Given the description of an element on the screen output the (x, y) to click on. 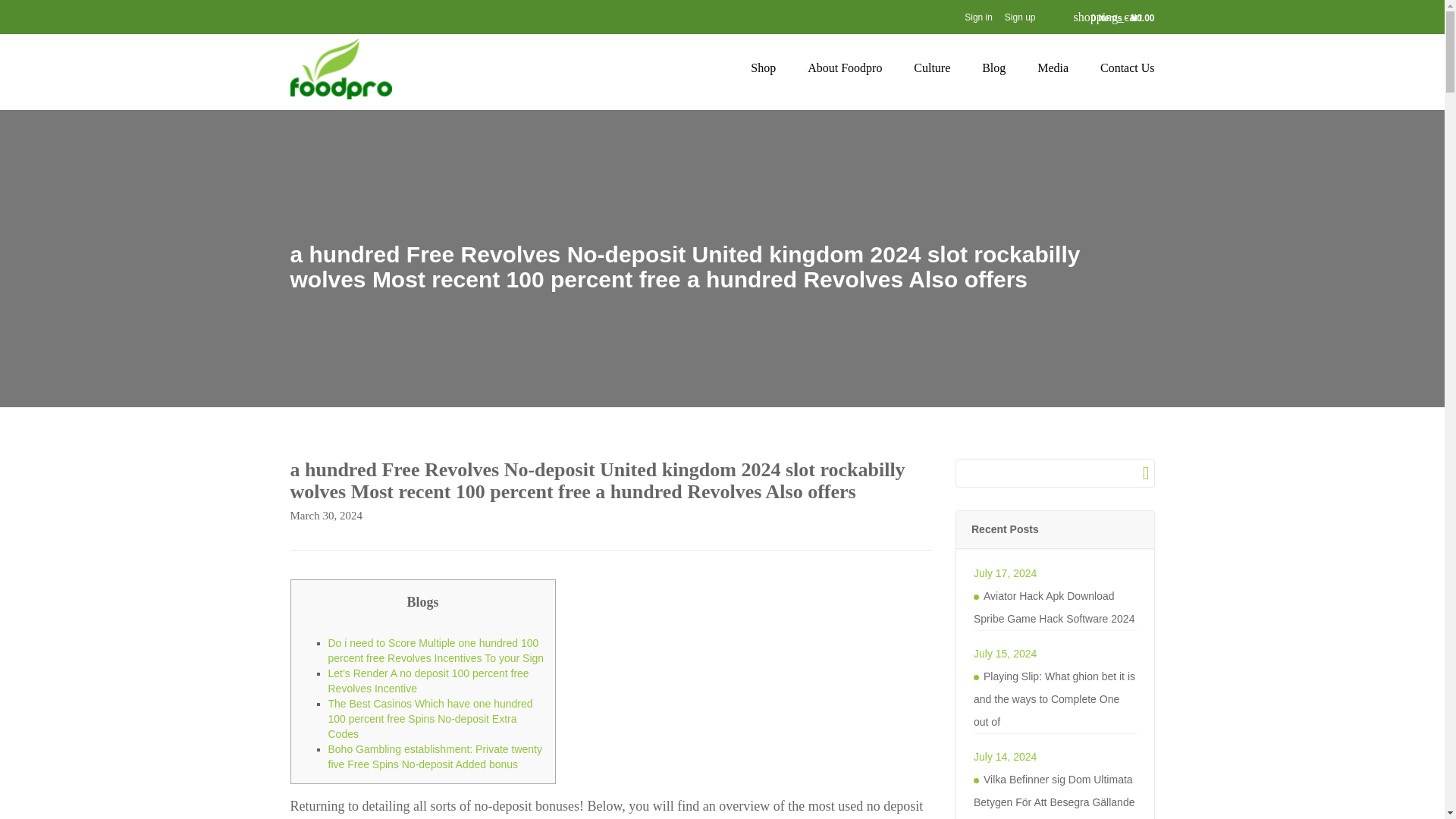
Sign up (1020, 17)
About Foodpro (845, 67)
Blog (993, 67)
Culture (932, 67)
Aviator Hack Apk Download Spribe Game Hack Software 2024 (1055, 606)
Contact Us (1127, 67)
Sign in (978, 17)
Shop (763, 67)
Media (1052, 67)
